Given the description of an element on the screen output the (x, y) to click on. 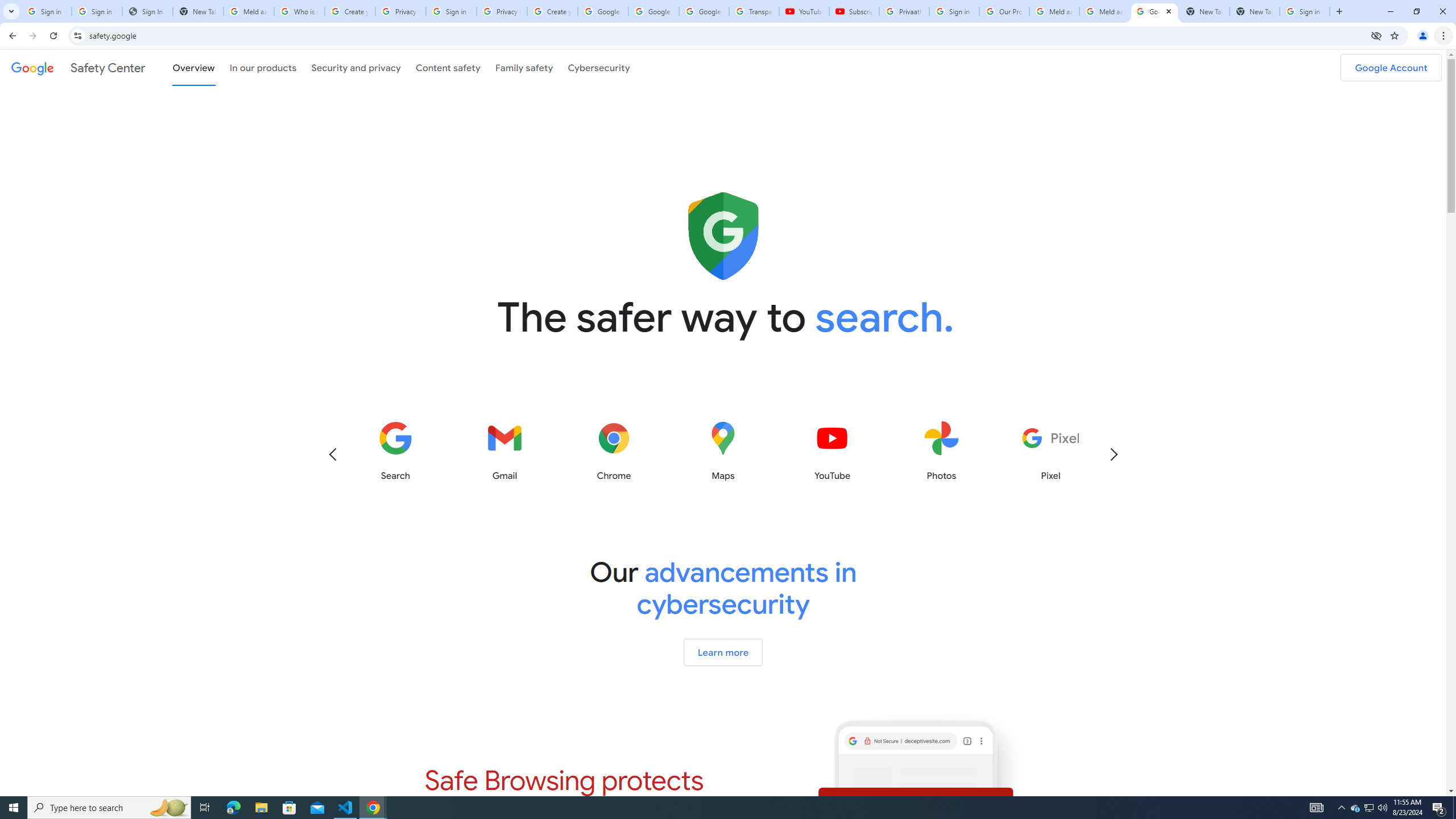
Cybersecurity (598, 67)
In our products (262, 67)
Sign in - Google Accounts (450, 11)
Content safety (447, 67)
Subscriptions - YouTube (853, 11)
